Given the description of an element on the screen output the (x, y) to click on. 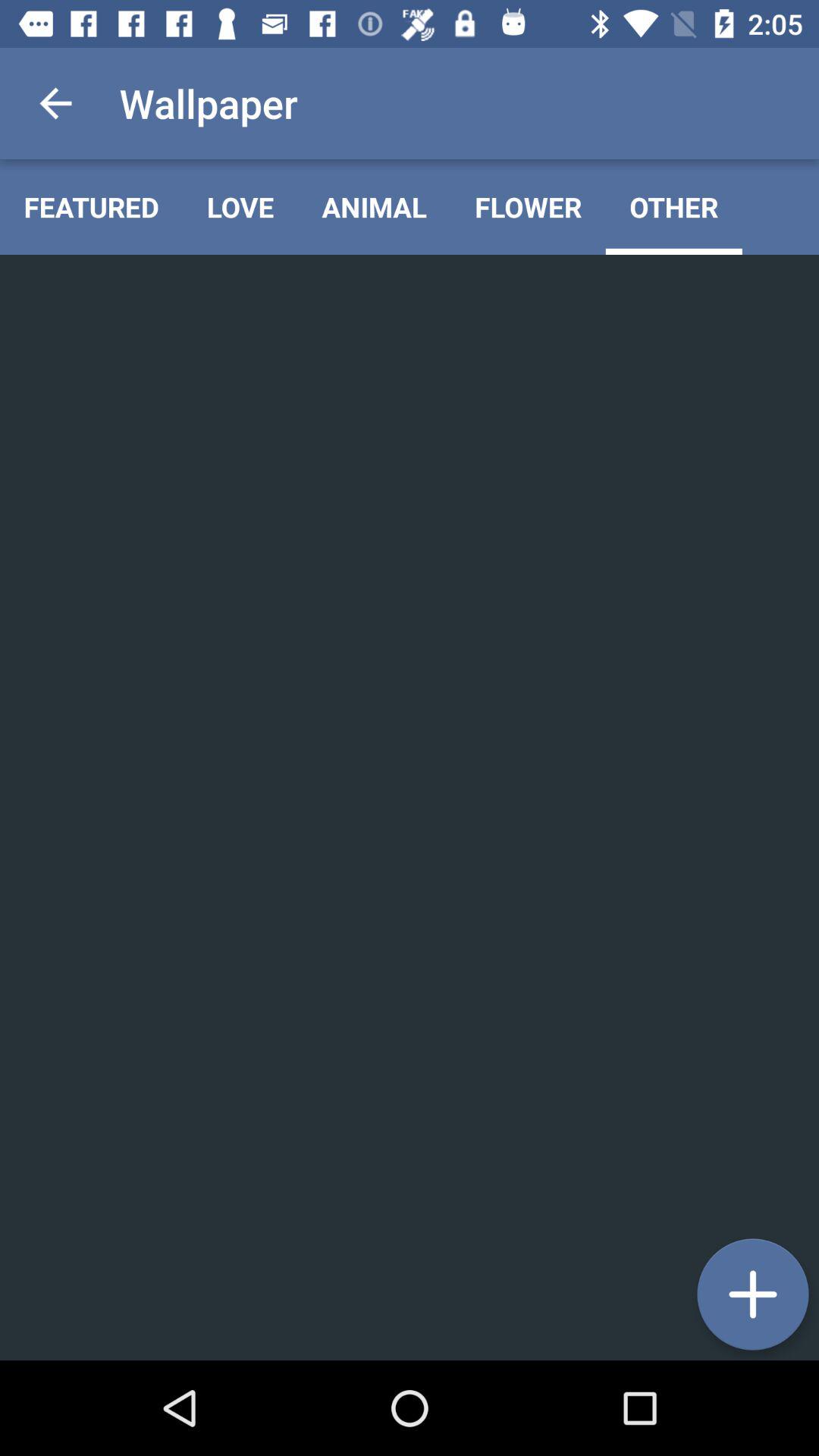
jump until the love item (240, 206)
